Given the description of an element on the screen output the (x, y) to click on. 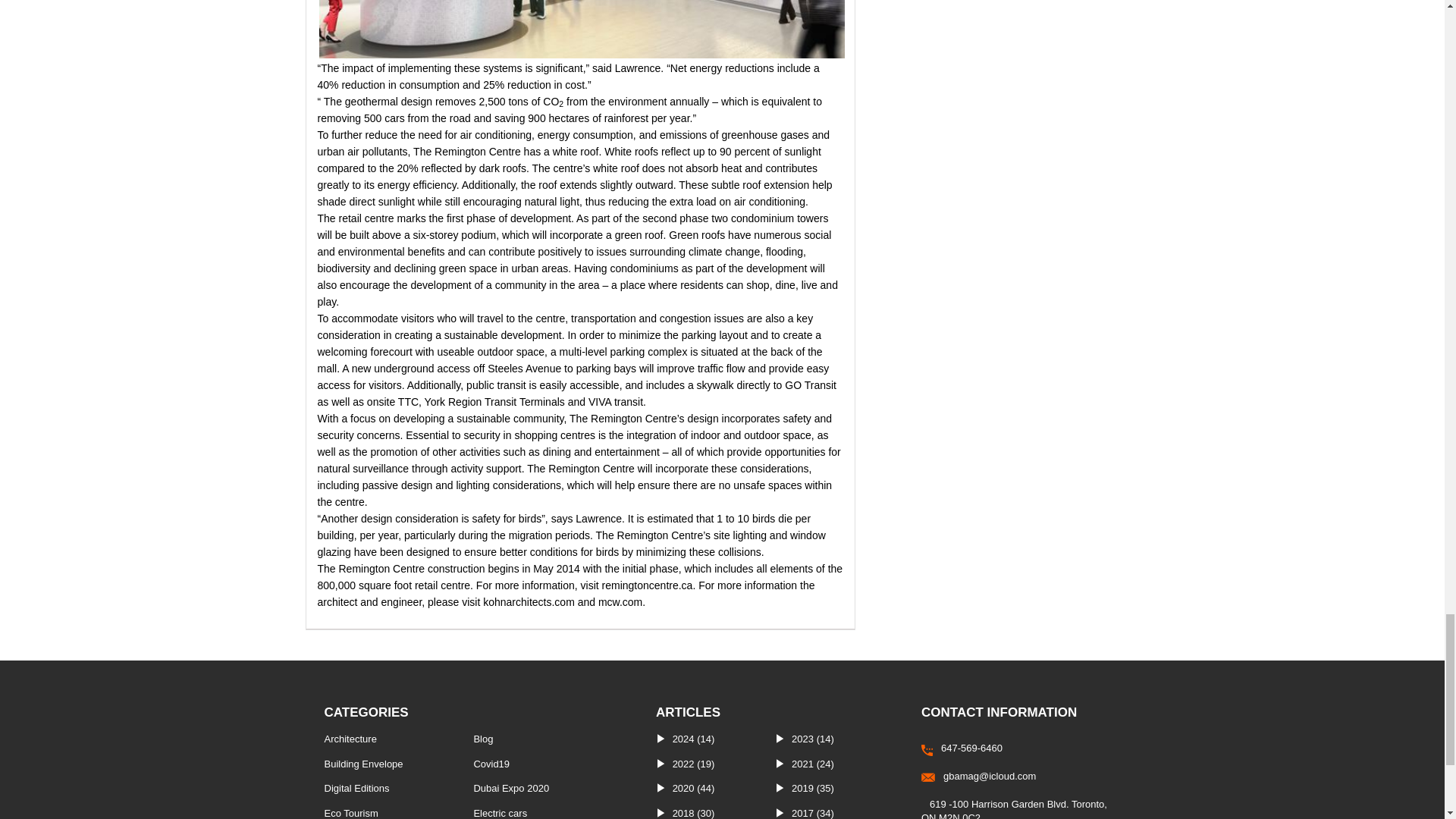
Digital Editions (357, 787)
Blog (483, 738)
Covid19 (491, 763)
Architecture (350, 738)
Building Envelope (363, 763)
